Given the description of an element on the screen output the (x, y) to click on. 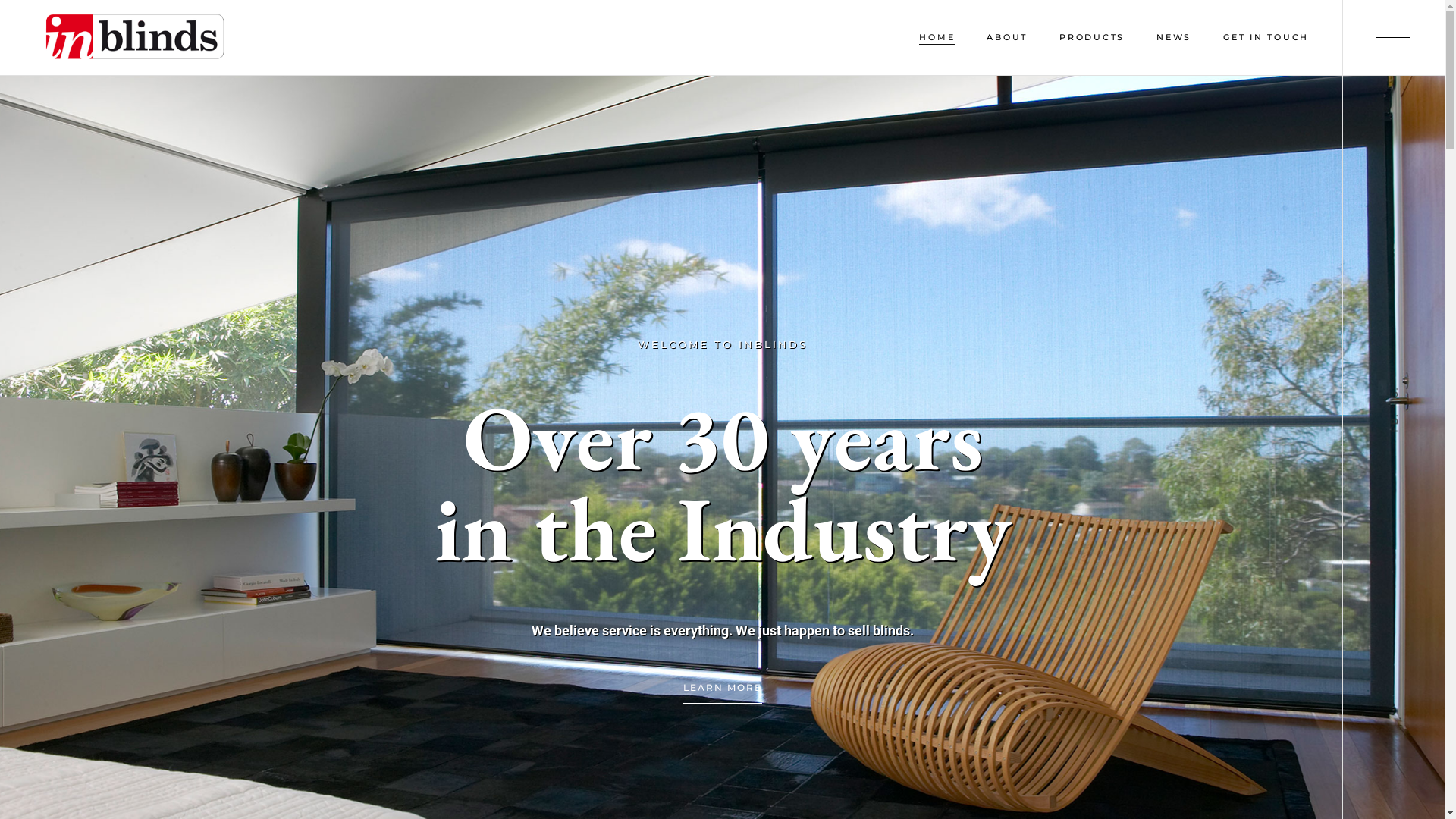
ABOUT Element type: text (1006, 37)
NEWS Element type: text (1173, 37)
PRODUCTS Element type: text (1091, 37)
FB. Element type: text (1399, 417)
LEARN MORE Element type: text (721, 687)
IG. Element type: text (1397, 390)
GET IN TOUCH Element type: text (1265, 37)
HOME Element type: text (936, 37)
